Given the description of an element on the screen output the (x, y) to click on. 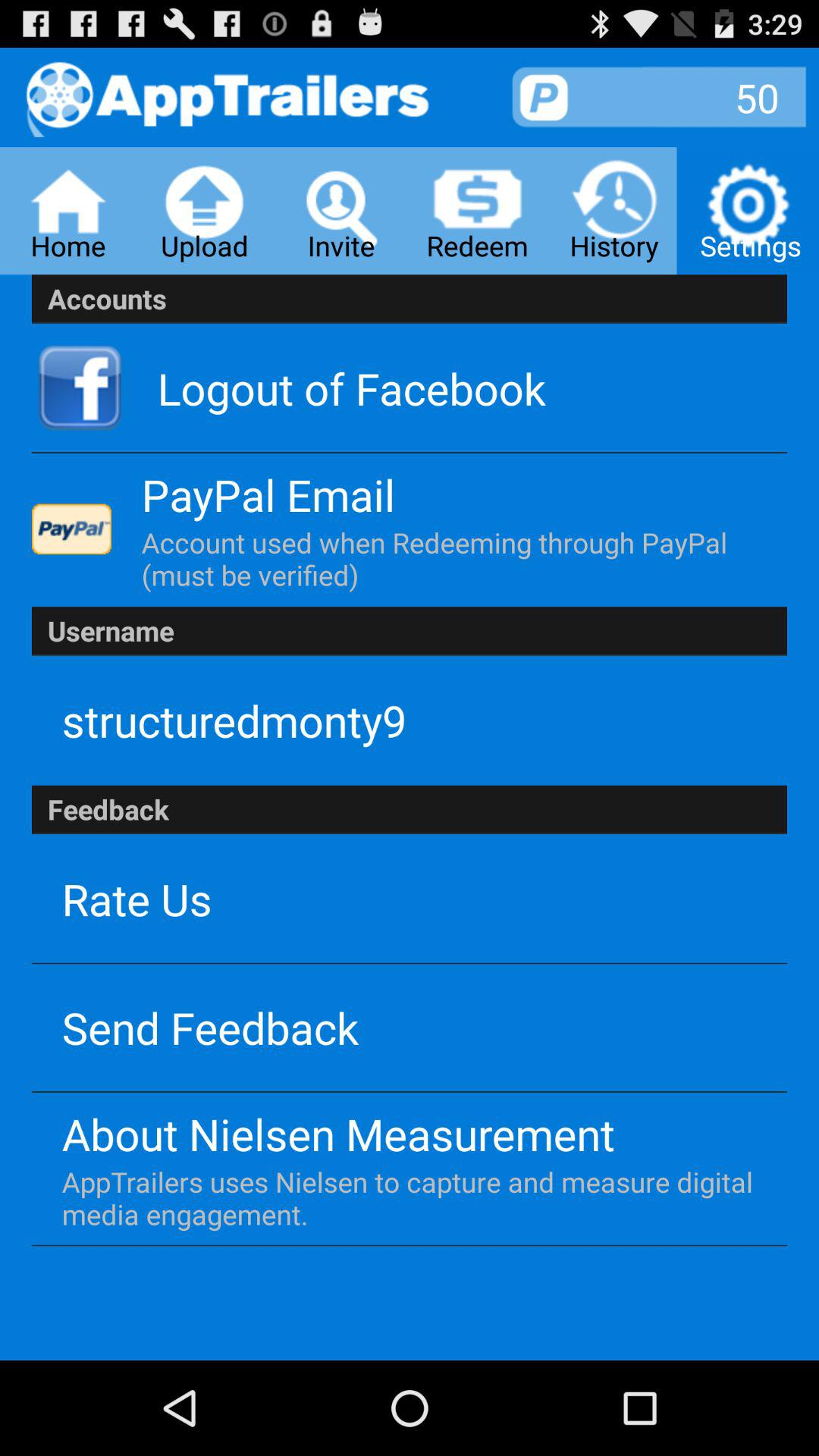
turn off the paypal email (268, 494)
